Given the description of an element on the screen output the (x, y) to click on. 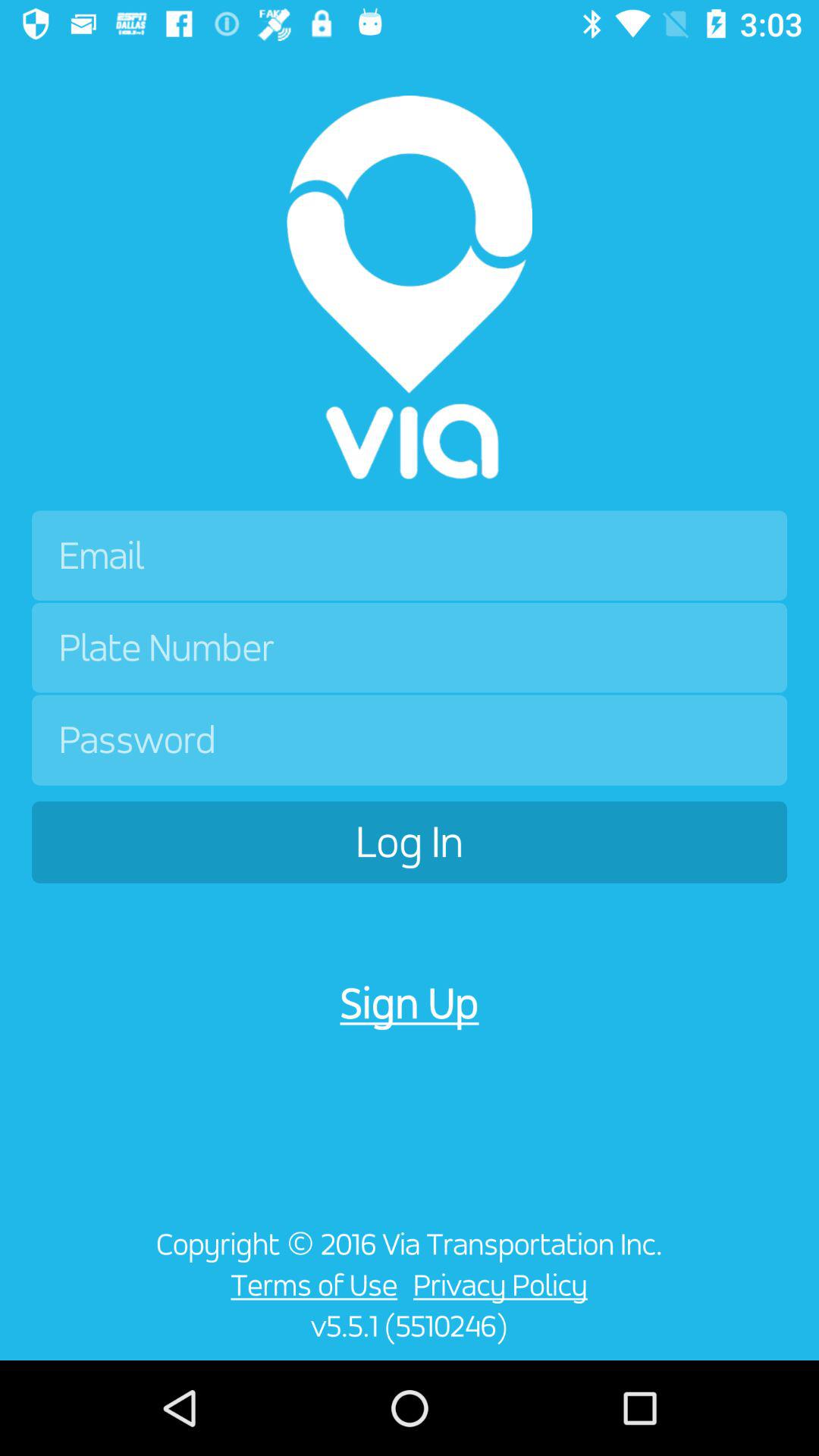
jump to the sign up (409, 1003)
